Given the description of an element on the screen output the (x, y) to click on. 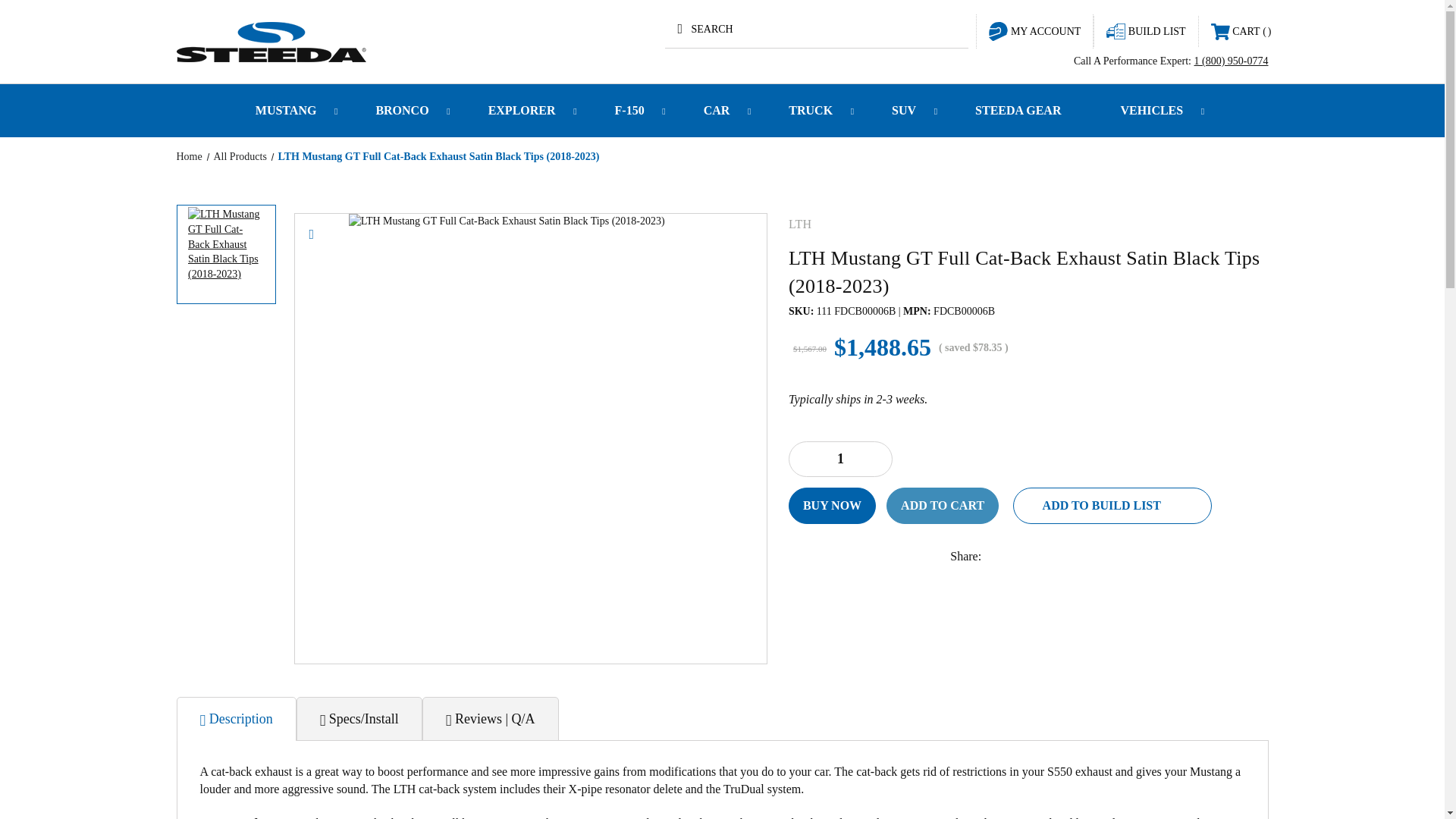
Email (1027, 556)
steeda-autosports-logo (270, 41)
Twitter (1092, 556)
CART (1241, 31)
MY ACCOUNT (1034, 30)
Add to Cart (942, 505)
BUILD LIST (1145, 30)
MUSTANG (288, 110)
1 (840, 458)
Facebook (995, 556)
SEARCH (816, 29)
Print (1059, 556)
